Given the description of an element on the screen output the (x, y) to click on. 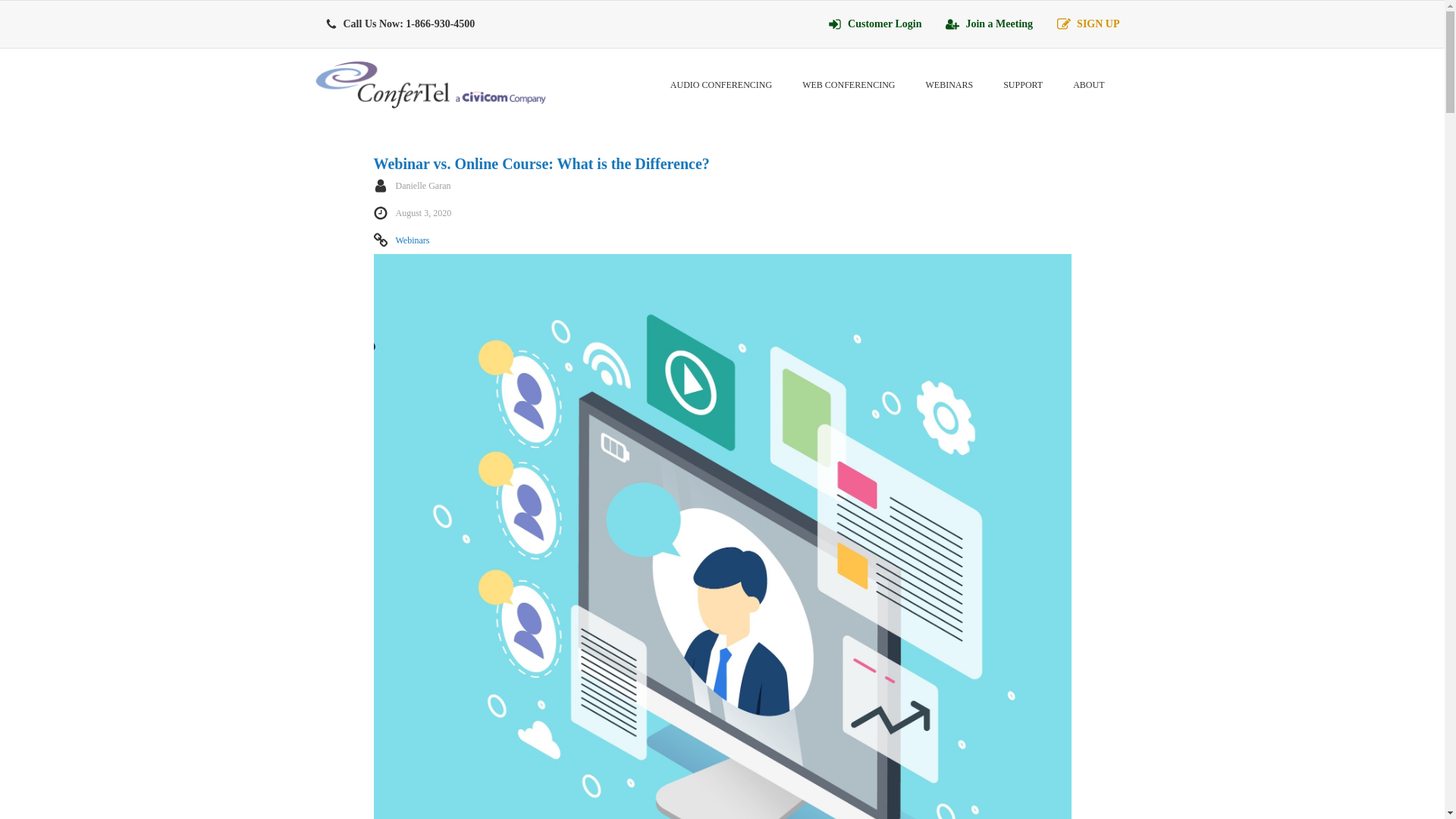
Call Us Now: 1-866-930-4500 (399, 23)
Join a Meeting (989, 23)
Webinars (412, 240)
WEBINARS (949, 85)
Customer Login (874, 23)
SIGN UP (1088, 23)
SUPPORT (1023, 85)
WEB CONFERENCING (848, 85)
AUDIO CONFERENCING (721, 85)
ABOUT (1088, 85)
